Given the description of an element on the screen output the (x, y) to click on. 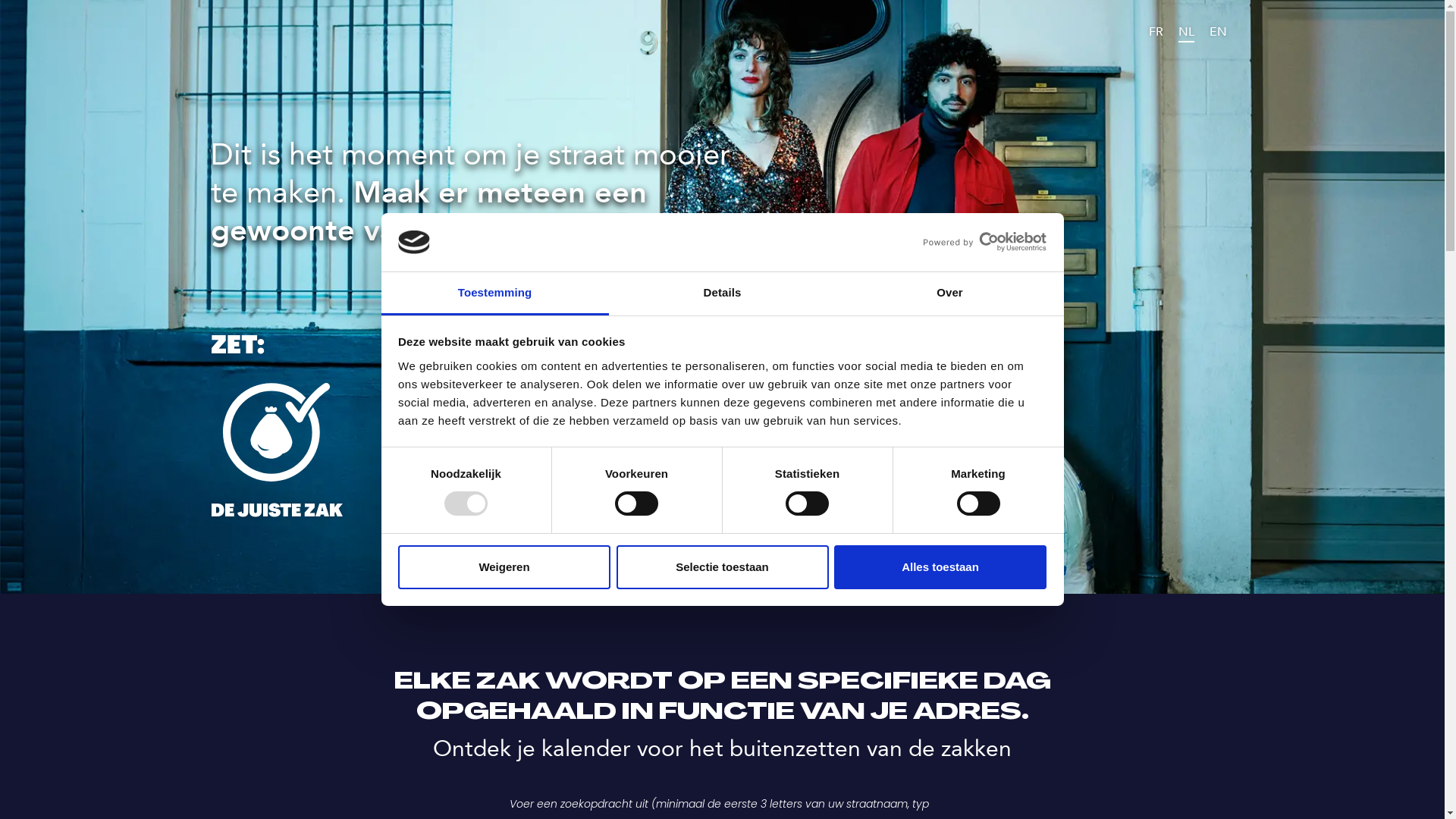
EN Element type: text (1217, 32)
Alles toestaan Element type: text (940, 567)
FR Element type: text (1155, 32)
Over Element type: text (949, 293)
Toestemming Element type: text (494, 293)
Selectie toestaan Element type: text (721, 567)
Details Element type: text (721, 293)
NL Element type: text (1186, 32)
Weigeren Element type: text (504, 567)
